Given the description of an element on the screen output the (x, y) to click on. 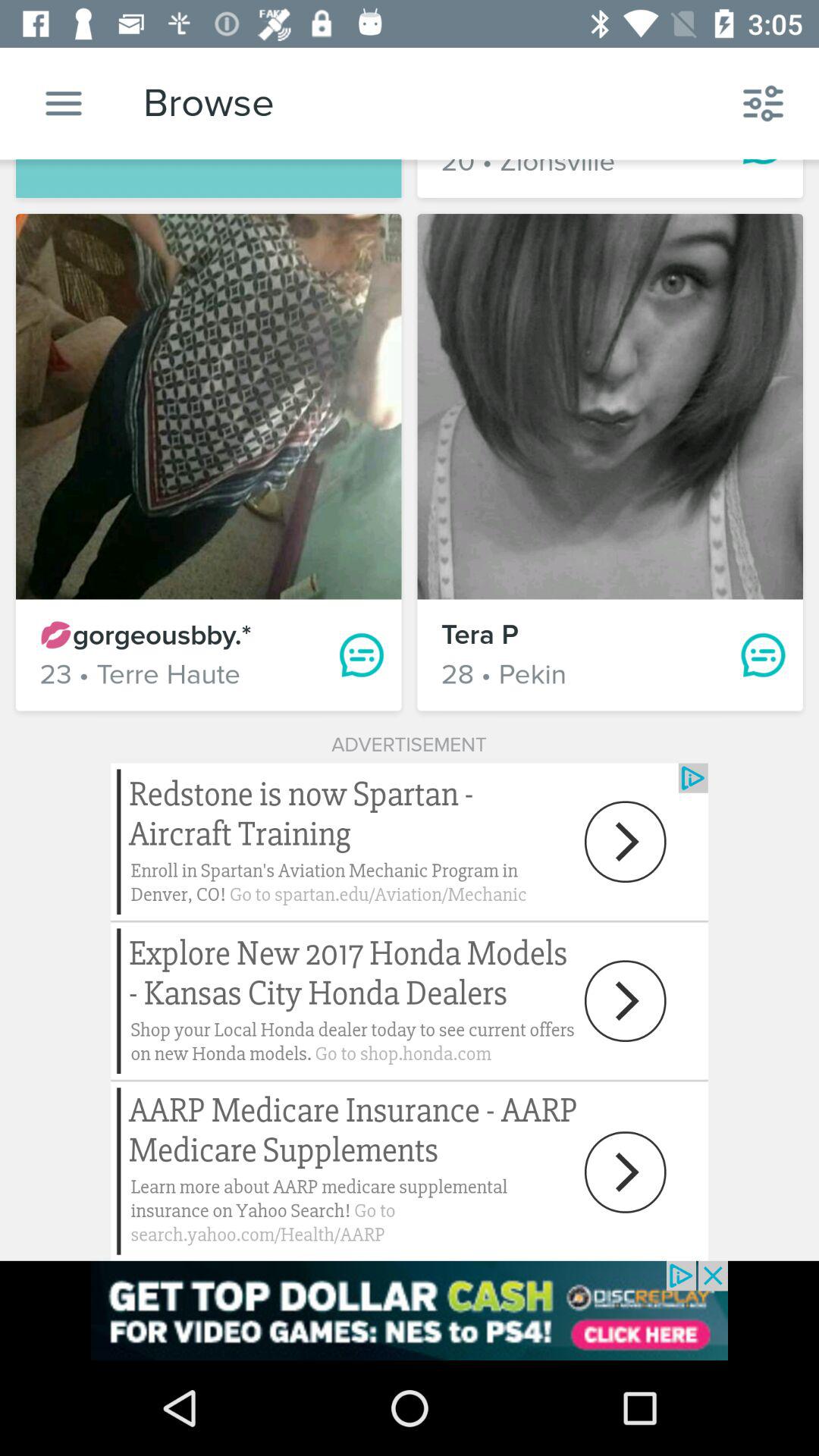
open profile (610, 406)
